Given the description of an element on the screen output the (x, y) to click on. 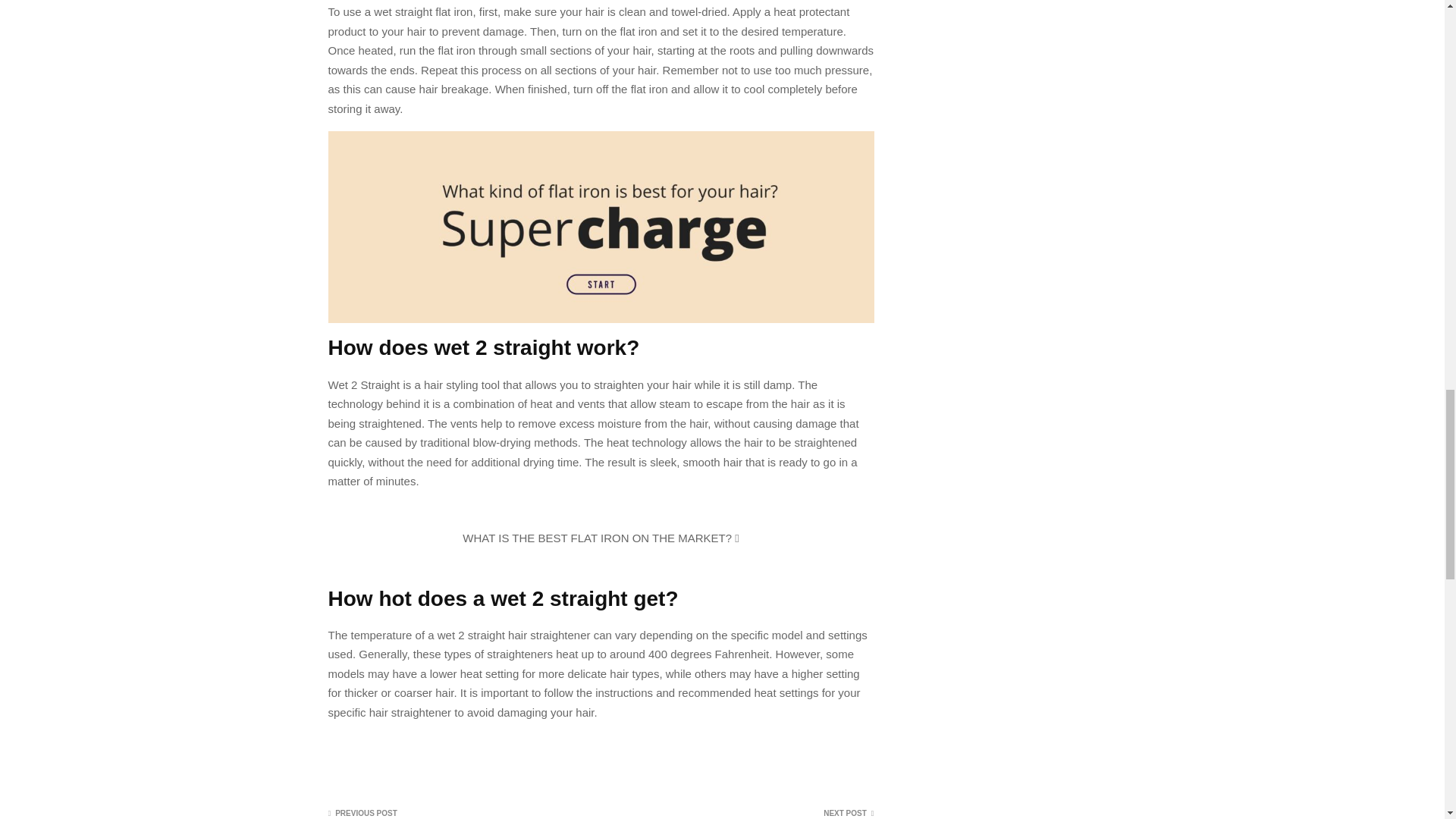
WHAT IS THE BEST FLAT IRON ON THE MARKET? (600, 538)
